Given the description of an element on the screen output the (x, y) to click on. 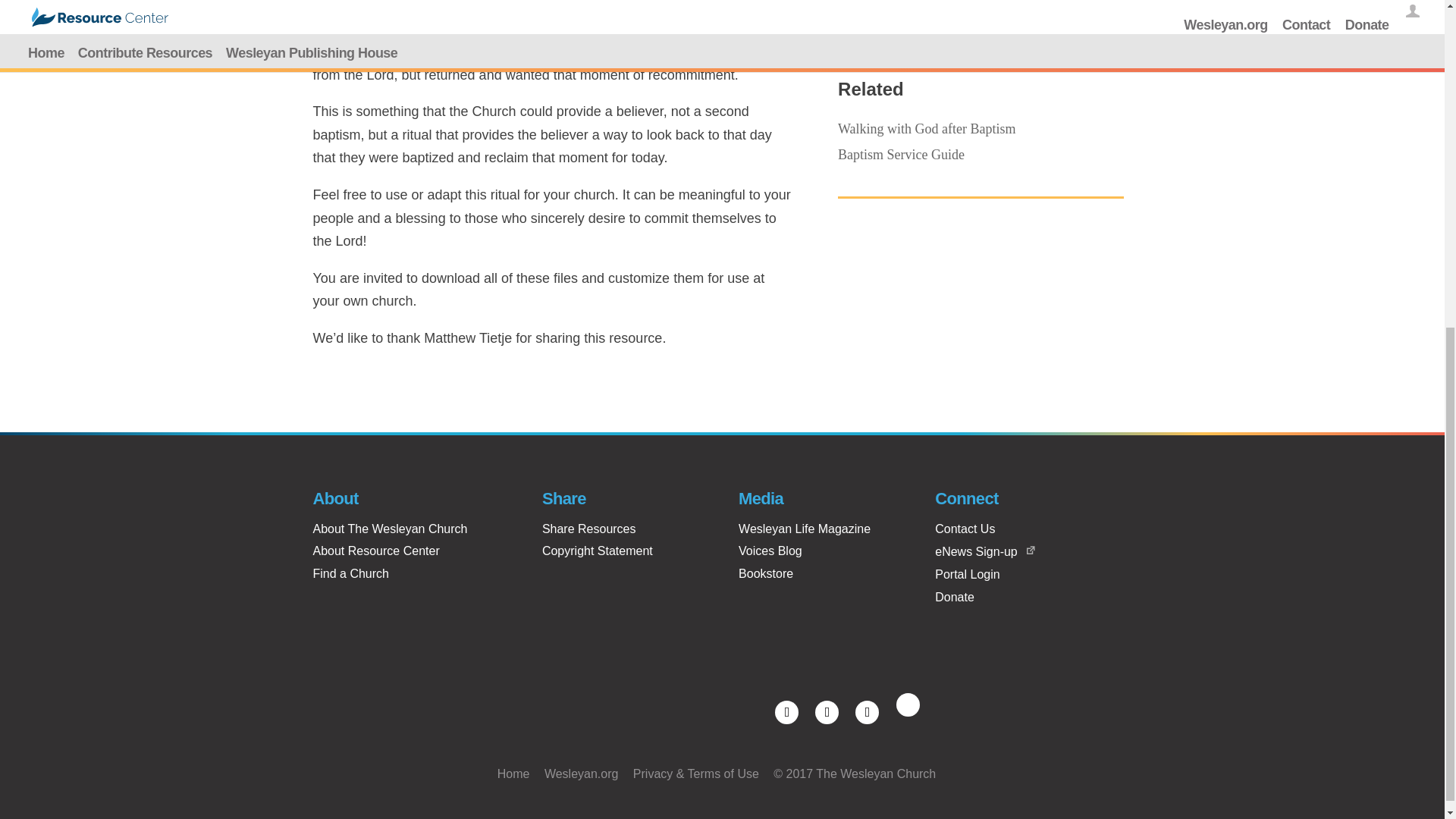
Walking with God after Baptism (927, 128)
About Resource Center (376, 550)
Home (513, 773)
Bookstore (765, 573)
Wesleyan.org (581, 773)
Donate (954, 596)
Find a Church (350, 573)
Contact Us (964, 528)
eNews Sign-up (975, 551)
Share Resources (588, 528)
